Given the description of an element on the screen output the (x, y) to click on. 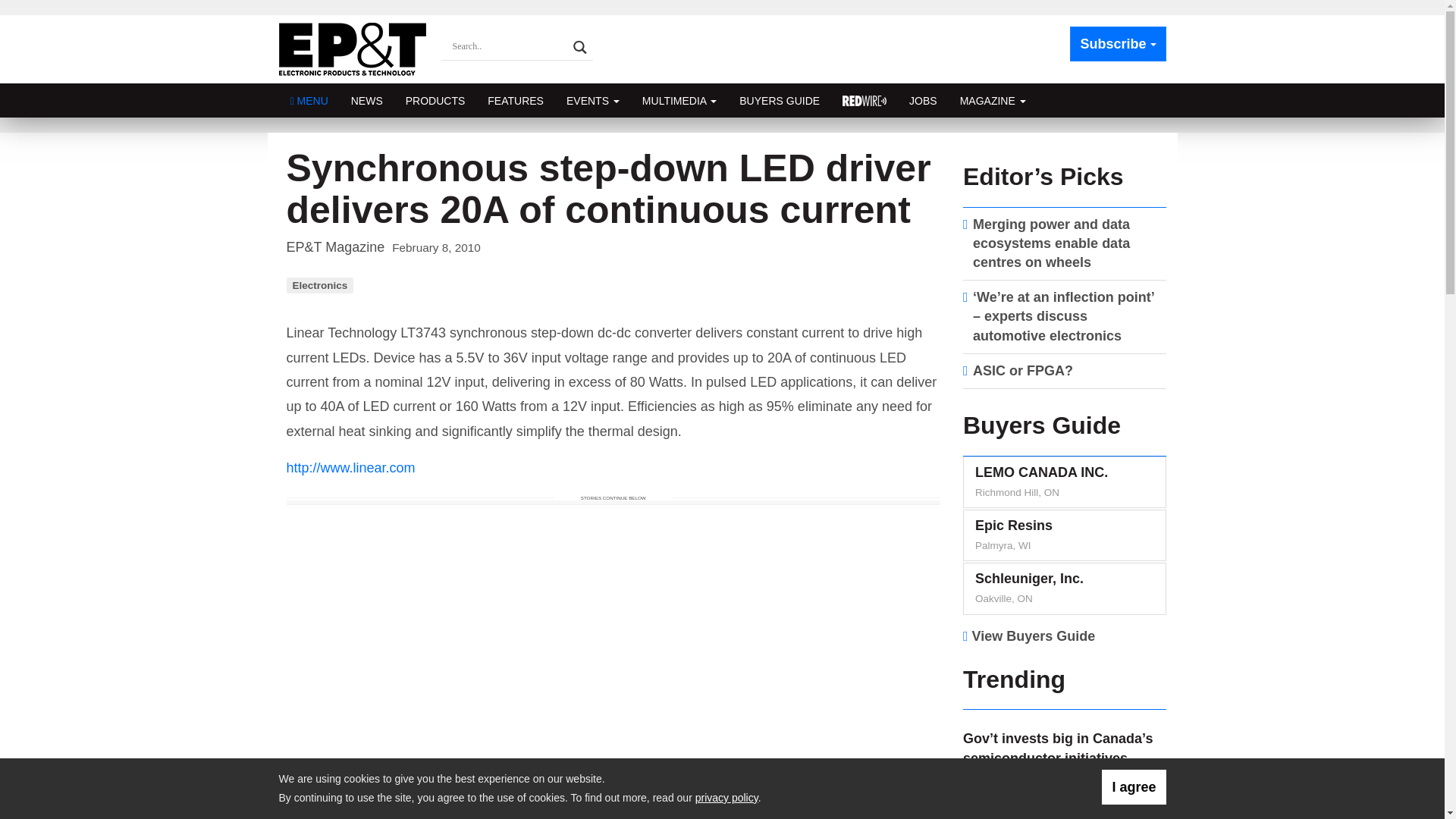
Click to show site navigation (309, 100)
Subscribe (1118, 43)
NEWS (366, 100)
MAGAZINE (992, 100)
FEATURES (515, 100)
EVENTS (592, 100)
PRODUCTS (435, 100)
BUYERS GUIDE (779, 100)
MULTIMEDIA (679, 100)
JOBS (923, 100)
MENU (309, 100)
